Given the description of an element on the screen output the (x, y) to click on. 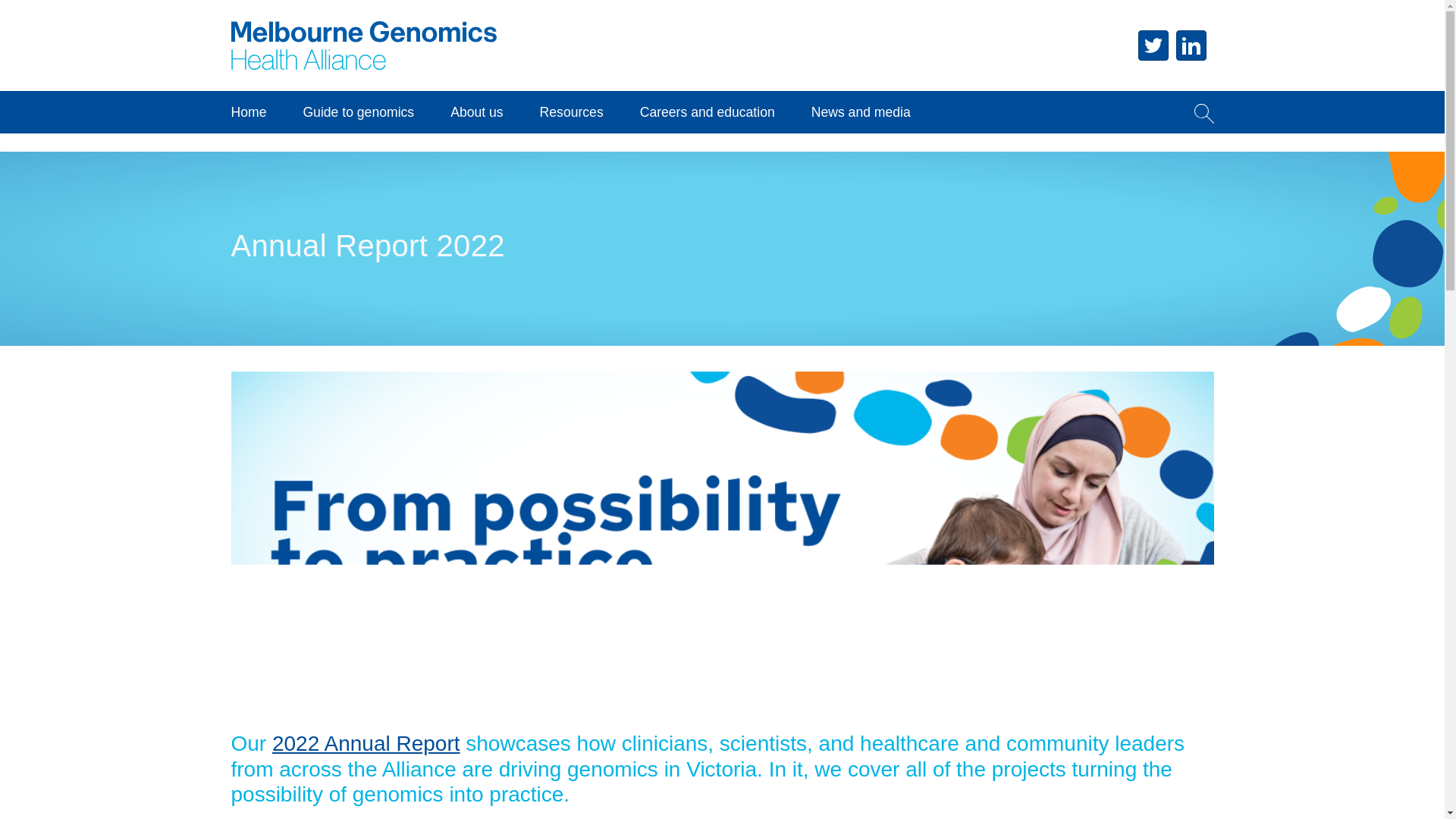
Home (248, 111)
About us (475, 111)
Home (363, 17)
Guide to genomics (357, 111)
